Given the description of an element on the screen output the (x, y) to click on. 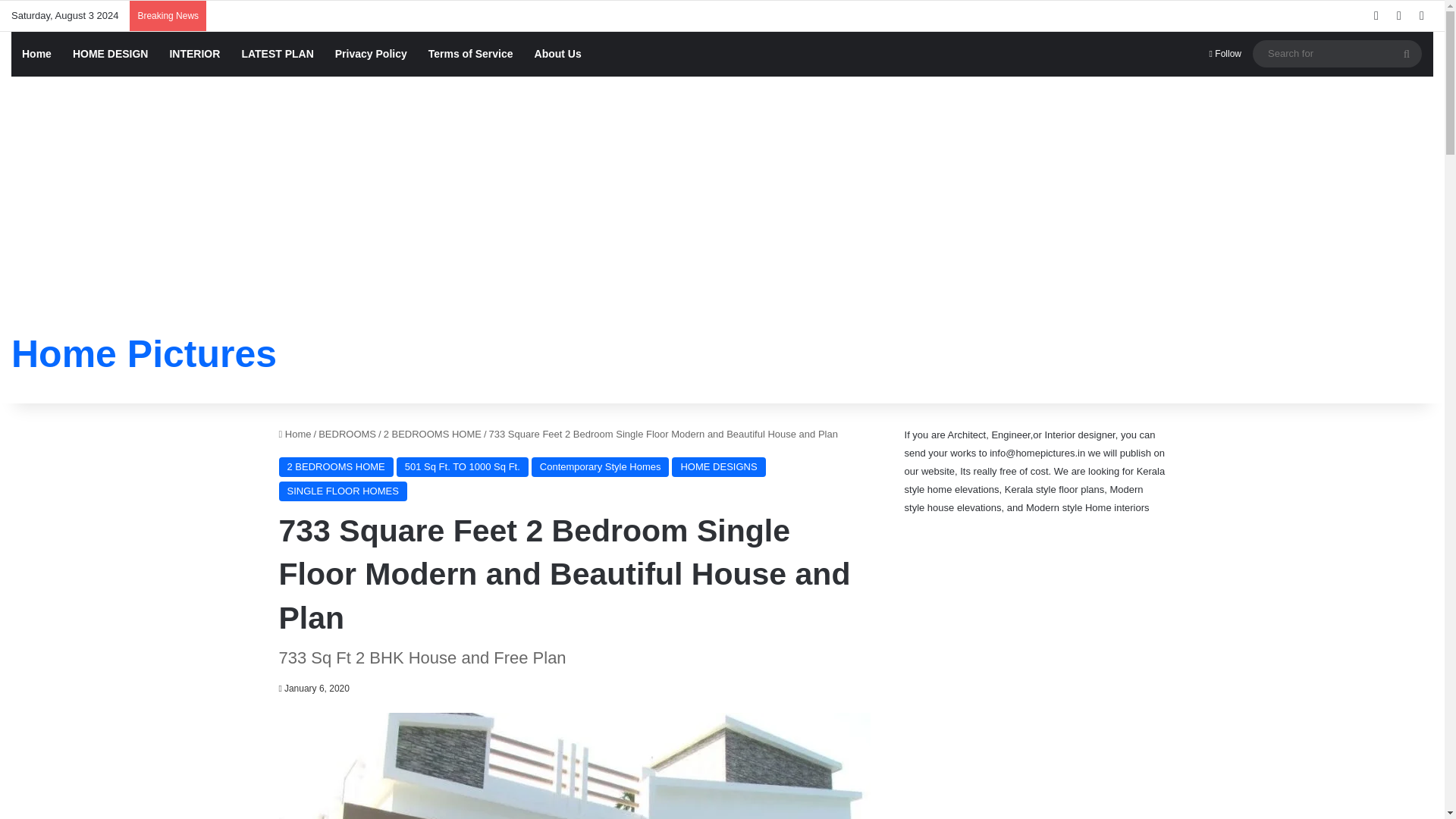
Search for (1337, 53)
2 BEDROOMS HOME (432, 433)
LATEST PLAN (276, 53)
Home (36, 53)
Home Pictures (143, 353)
Search for (1406, 53)
SINGLE FLOOR HOMES (343, 491)
HOME DESIGNS (718, 466)
About Us (558, 53)
Home Pictures (143, 353)
501 Sq Ft. TO 1000 Sq Ft. (462, 466)
2 BEDROOMS HOME (336, 466)
HOME DESIGN (110, 53)
Privacy Policy (370, 53)
